Given the description of an element on the screen output the (x, y) to click on. 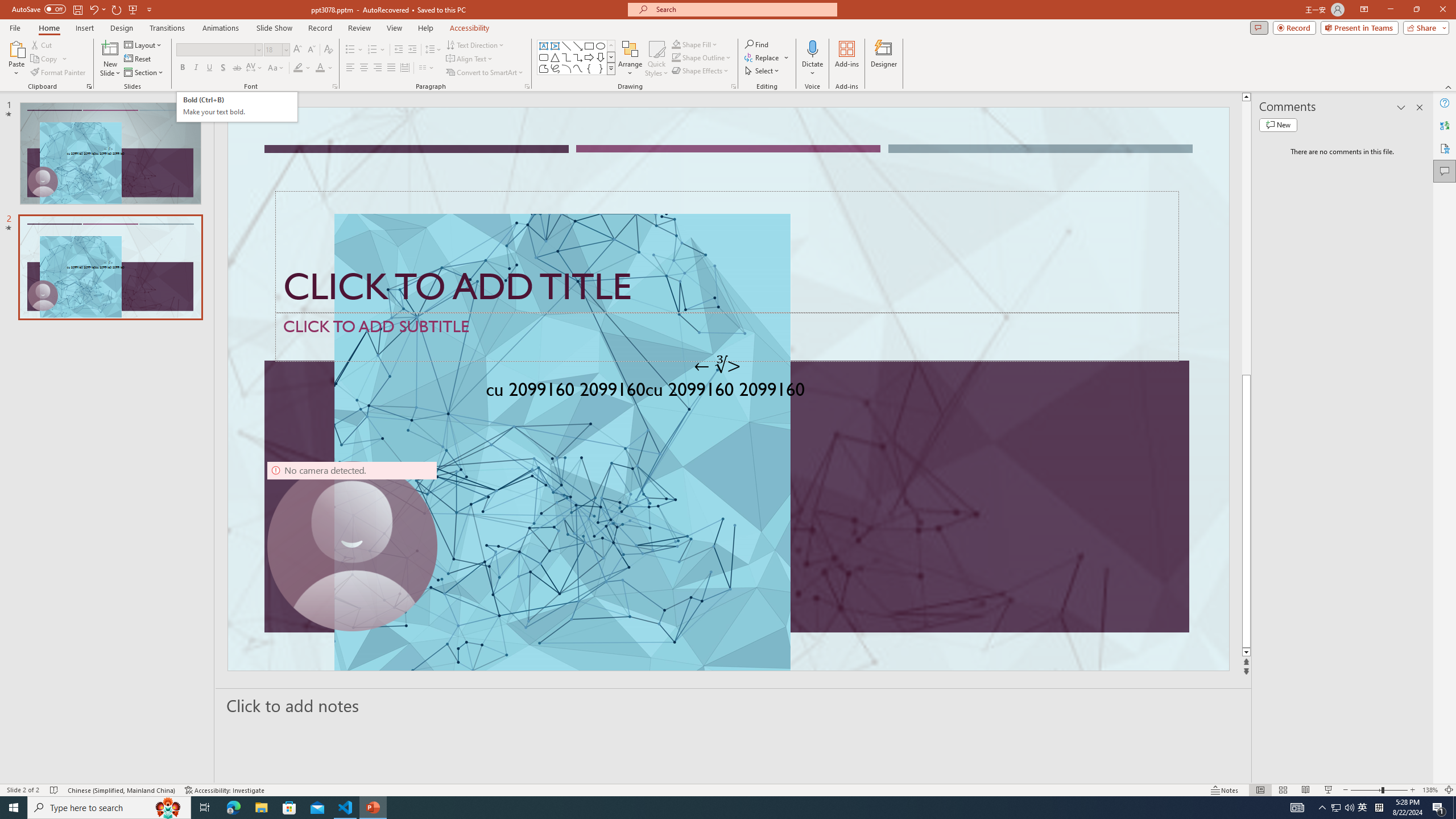
Font (219, 49)
Quick Styles (656, 58)
Transitions (167, 28)
Zoom 138% (1430, 790)
Font... (334, 85)
Align Left (349, 67)
AutomationID: ShapesInsertGallery (576, 57)
Shape Fill Dark Green, Accent 2 (675, 44)
New comment (1278, 124)
Center (363, 67)
Oval (600, 45)
Restore Down (1416, 9)
Character Spacing (254, 67)
Line Spacing (433, 49)
